Given the description of an element on the screen output the (x, y) to click on. 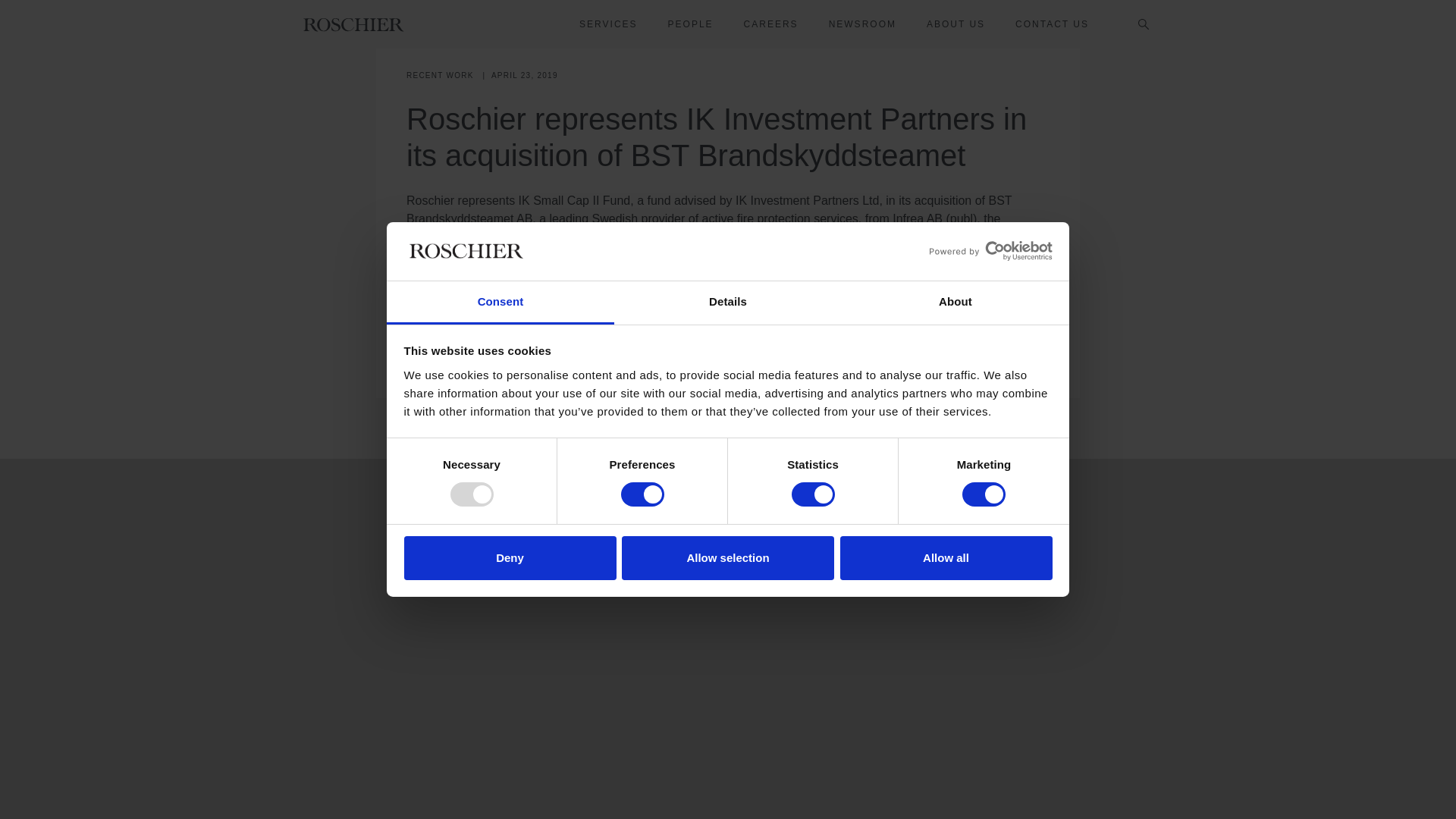
Deny (509, 200)
Allow selection (727, 200)
Allow all (946, 200)
